Given the description of an element on the screen output the (x, y) to click on. 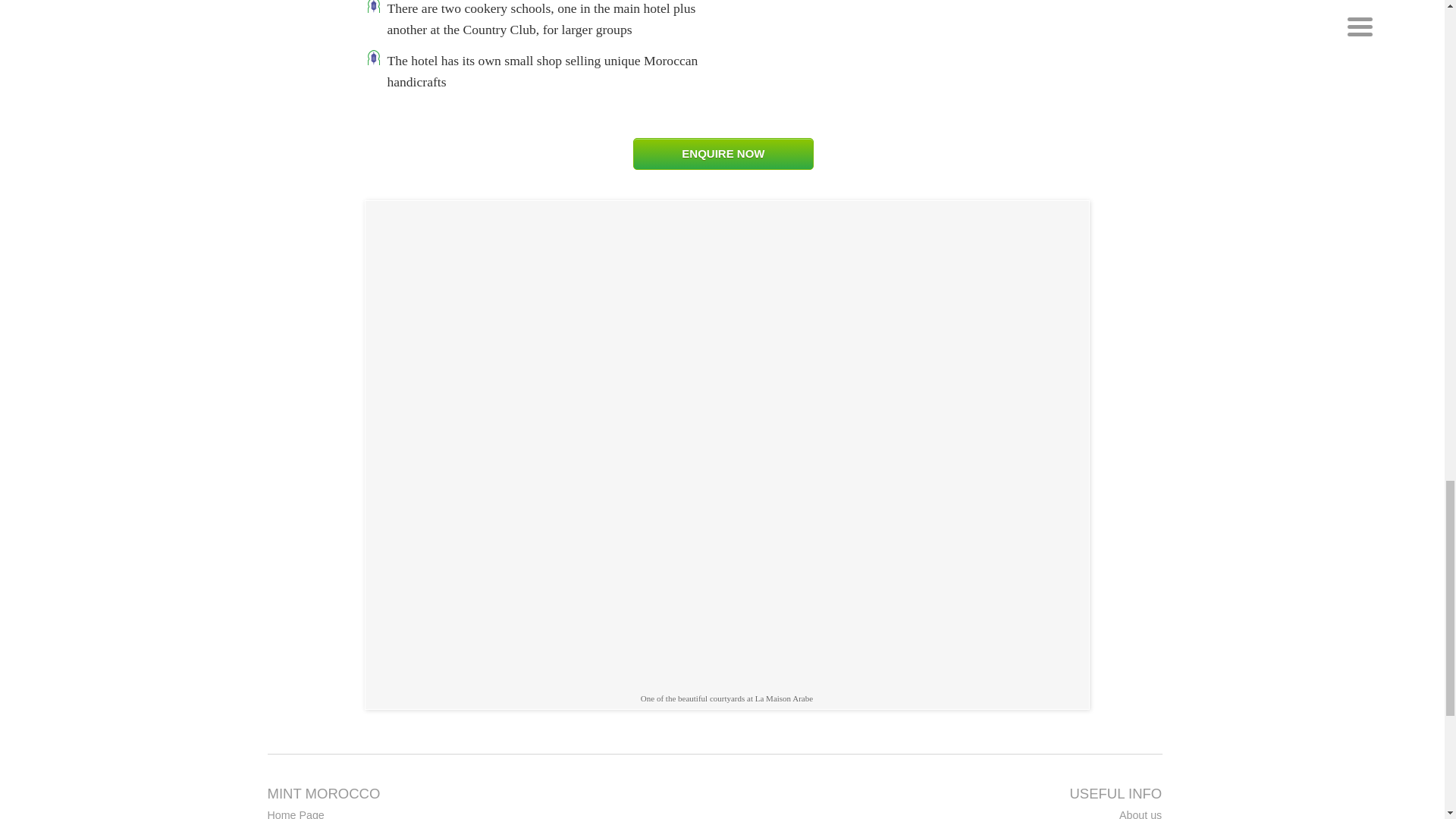
Enquire now (722, 153)
Home Page (403, 814)
About us (1023, 814)
